Given the description of an element on the screen output the (x, y) to click on. 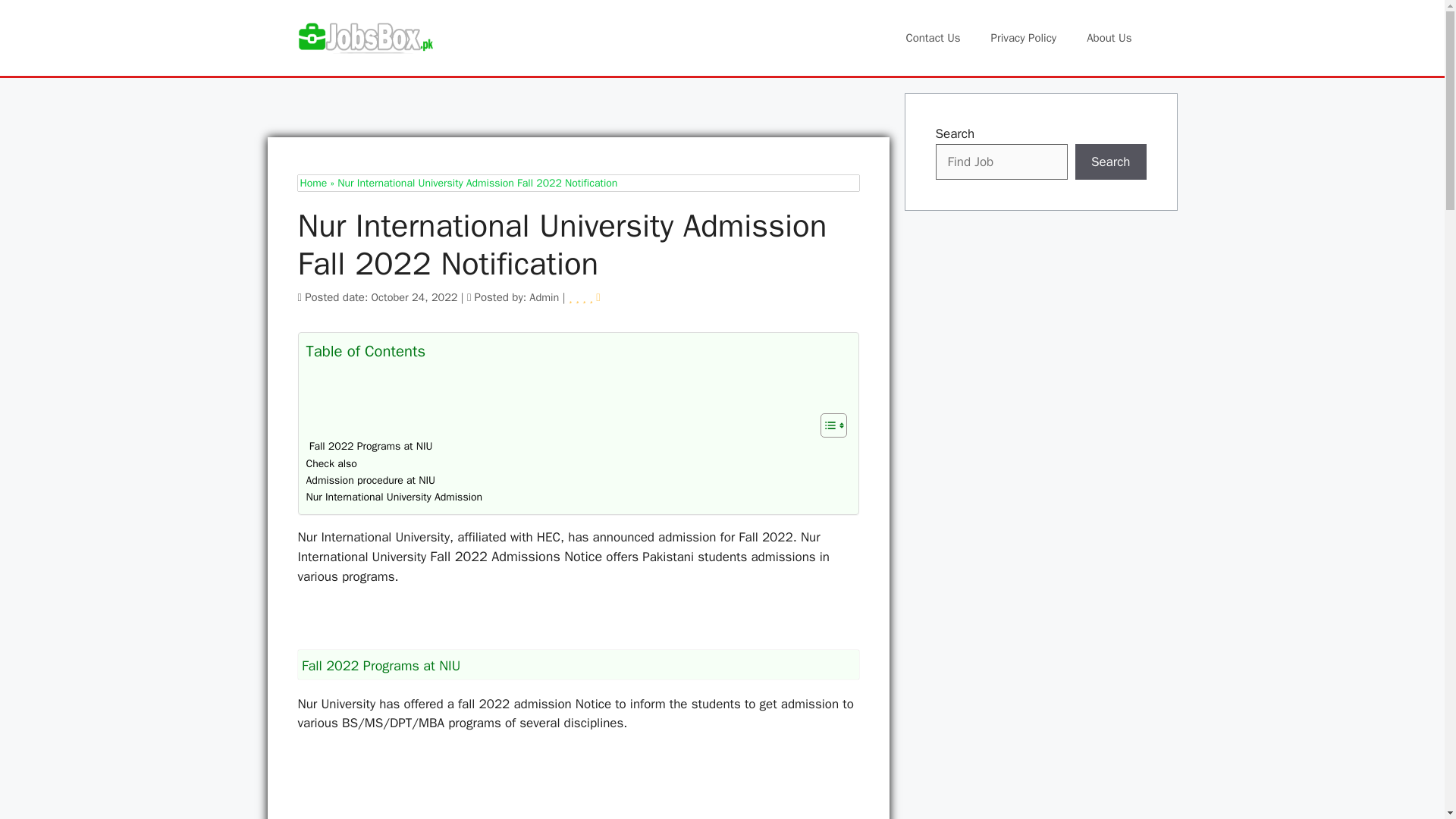
About Us (1109, 37)
Admission procedure at NIU (370, 480)
Contact Us (932, 37)
Nur International University Admission (394, 497)
Privacy Policy (1023, 37)
Check also (330, 463)
Home (313, 182)
 Fall 2022 Programs at NIU (368, 446)
Nur International University Admission (394, 497)
Search (1111, 162)
Admission procedure at NIU (370, 480)
Check also (330, 463)
